Given the description of an element on the screen output the (x, y) to click on. 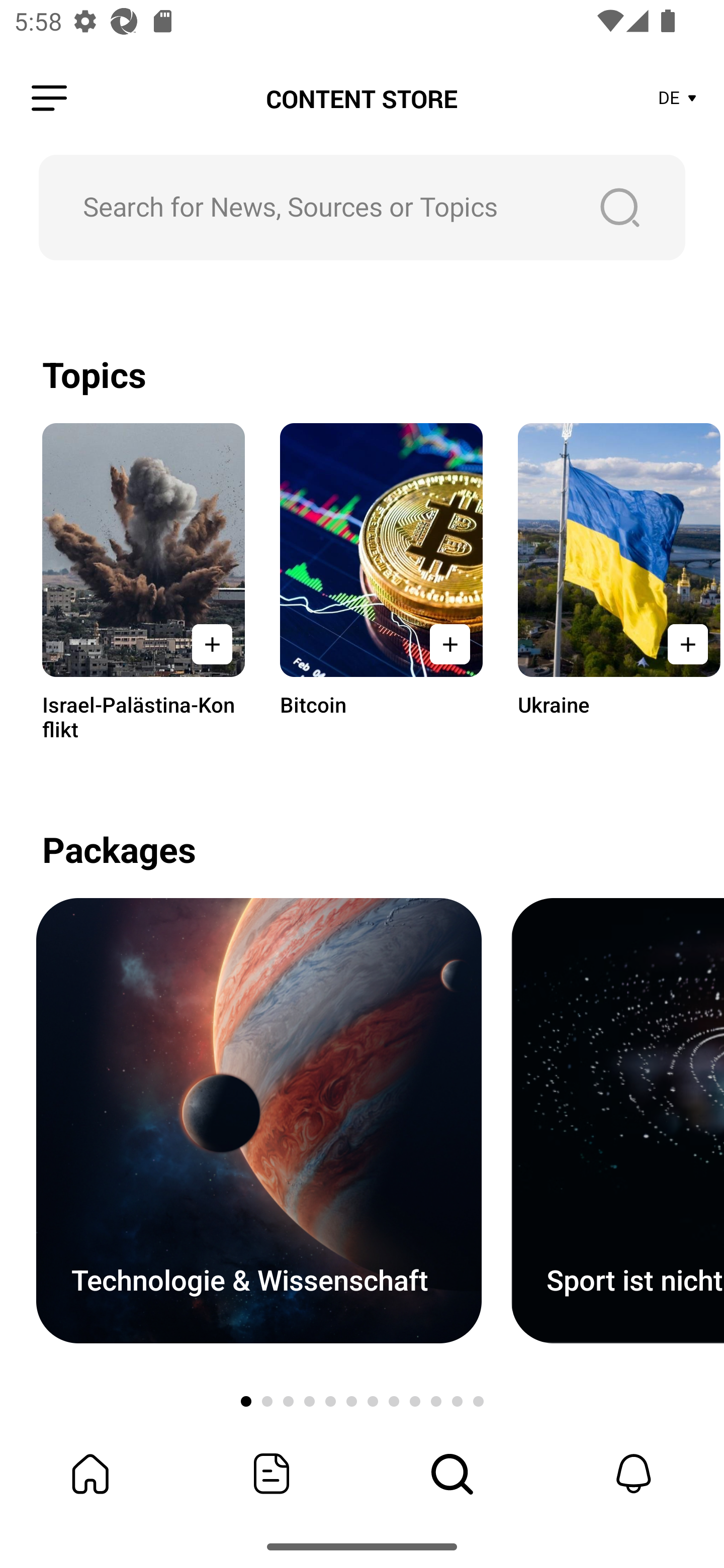
DE Store Area (677, 98)
Leading Icon (49, 98)
Search for News, Sources or Topics Search Button (361, 207)
Add To My Bundle (212, 644)
Add To My Bundle (449, 644)
Add To My Bundle (684, 644)
My Bundle (90, 1473)
Featured (271, 1473)
Notifications (633, 1473)
